Given the description of an element on the screen output the (x, y) to click on. 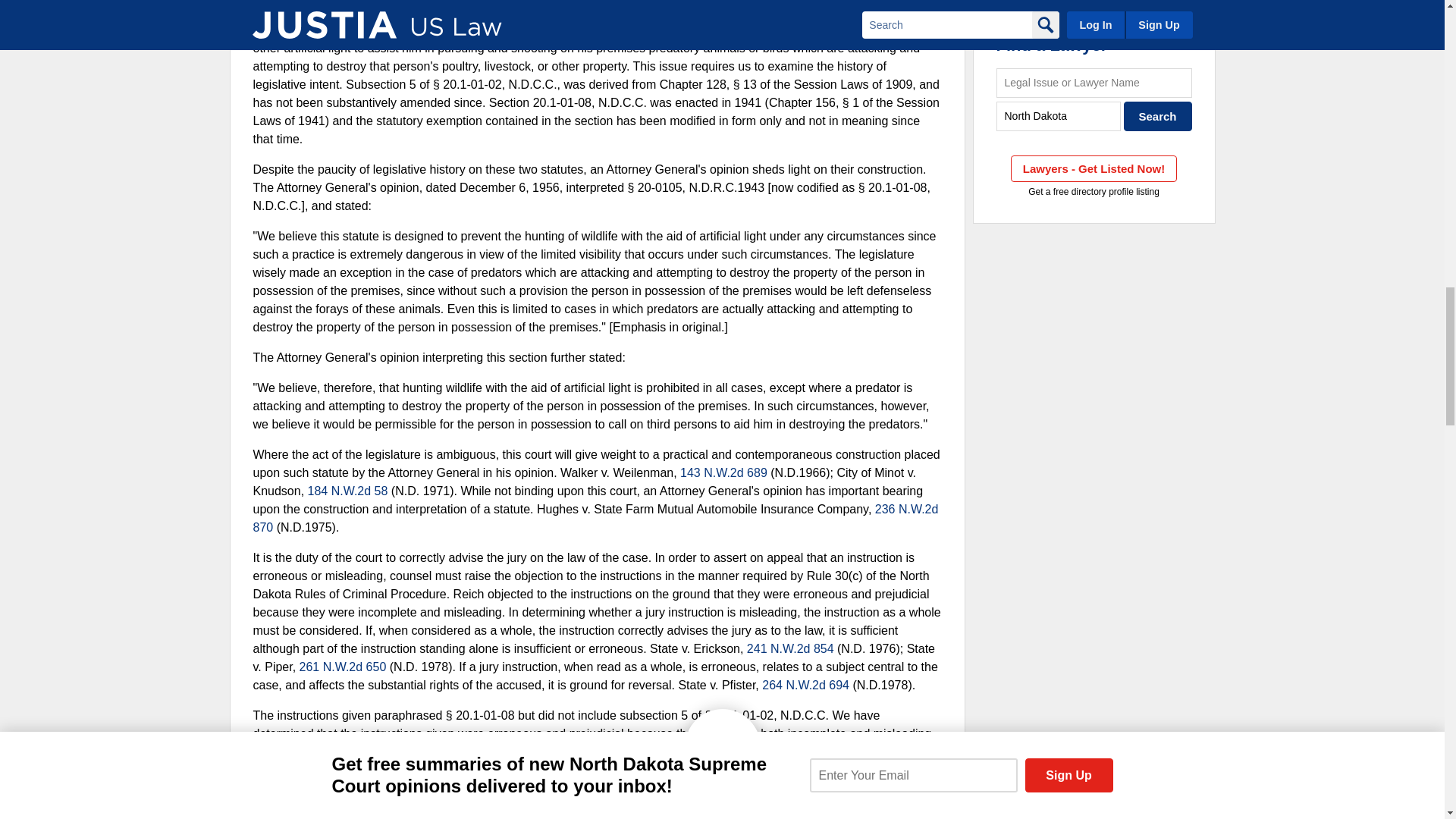
184 N.W.2d 58 (347, 490)
264 N.W.2d 694 (804, 684)
236 N.W.2d 870 (596, 517)
Search (1158, 116)
North Dakota (1058, 116)
241 N.W.2d 854 (790, 648)
143 N.W.2d 689 (723, 472)
261 N.W.2d 650 (343, 666)
City, State (1058, 116)
Legal Issue or Lawyer Name (1093, 82)
Search (1158, 116)
